Given the description of an element on the screen output the (x, y) to click on. 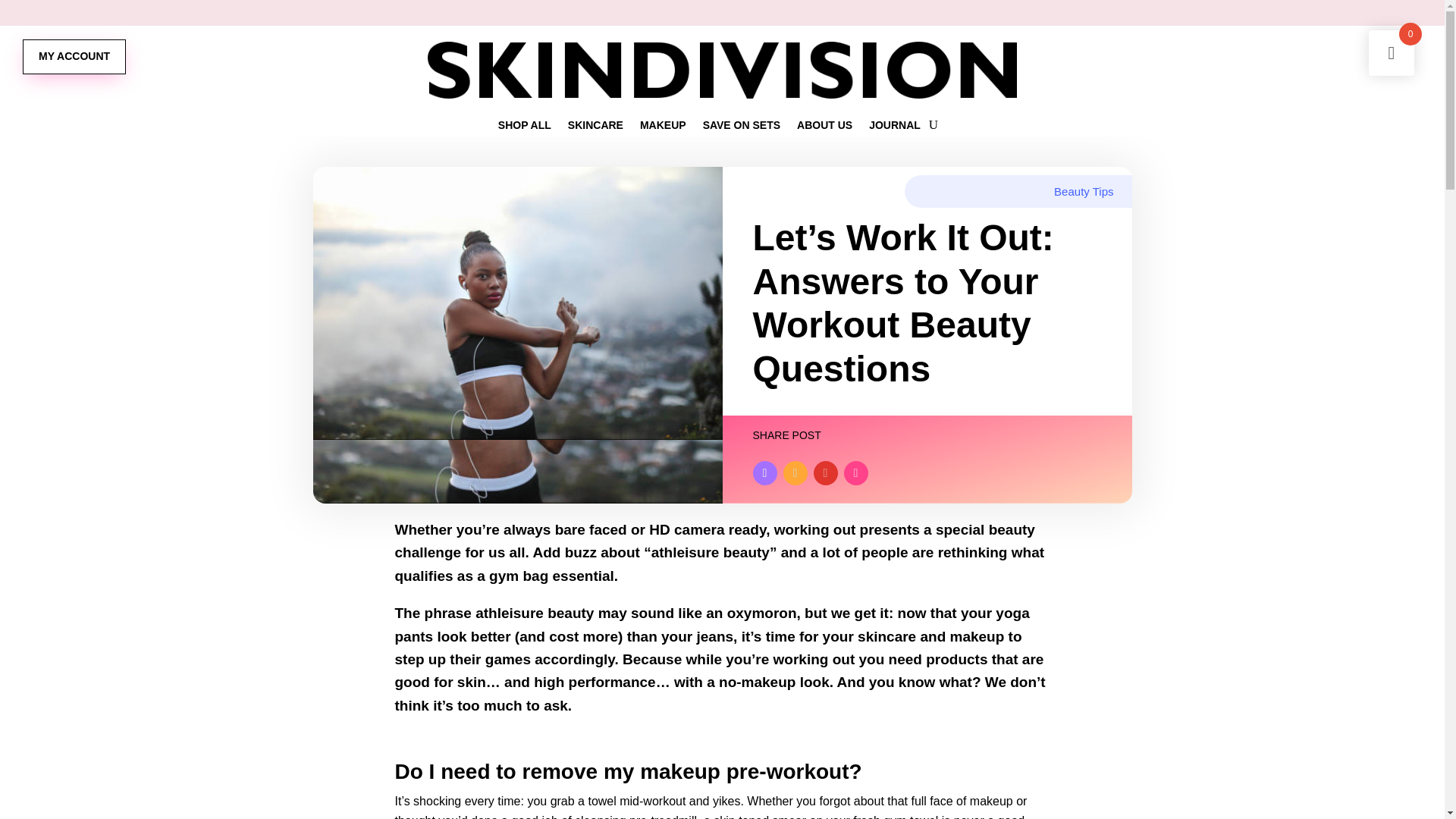
JOURNAL (894, 127)
Beauty Tips (1083, 191)
Follow on Pinterest (794, 473)
MAKEUP (662, 127)
SKINCARE (595, 127)
ABOUT US (823, 127)
Follow on Facebook (764, 473)
SHOP ALL (524, 127)
MY ACCOUNT (74, 56)
Follow on Twitter (824, 473)
